Given the description of an element on the screen output the (x, y) to click on. 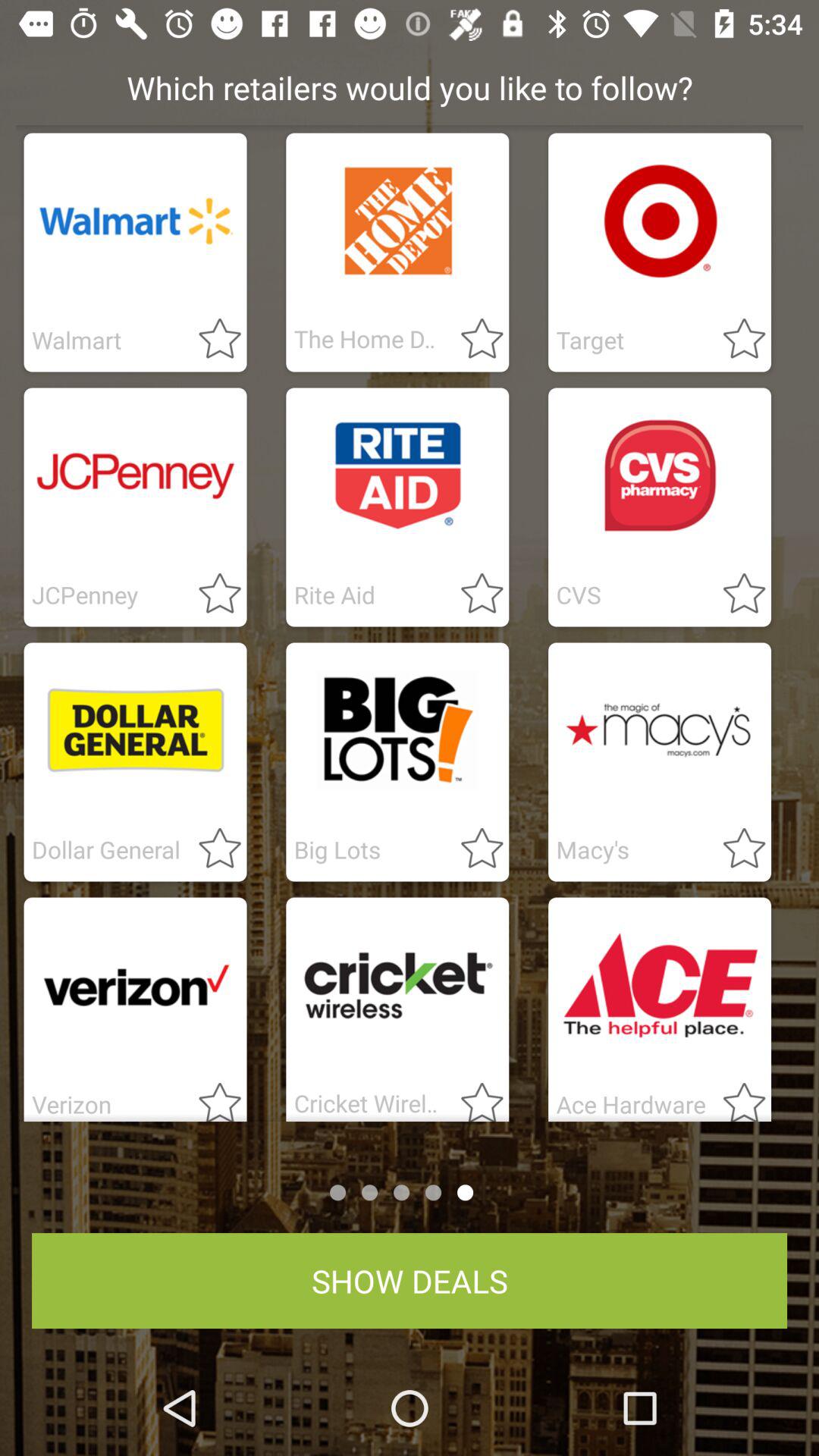
follow this retailer (210, 849)
